Given the description of an element on the screen output the (x, y) to click on. 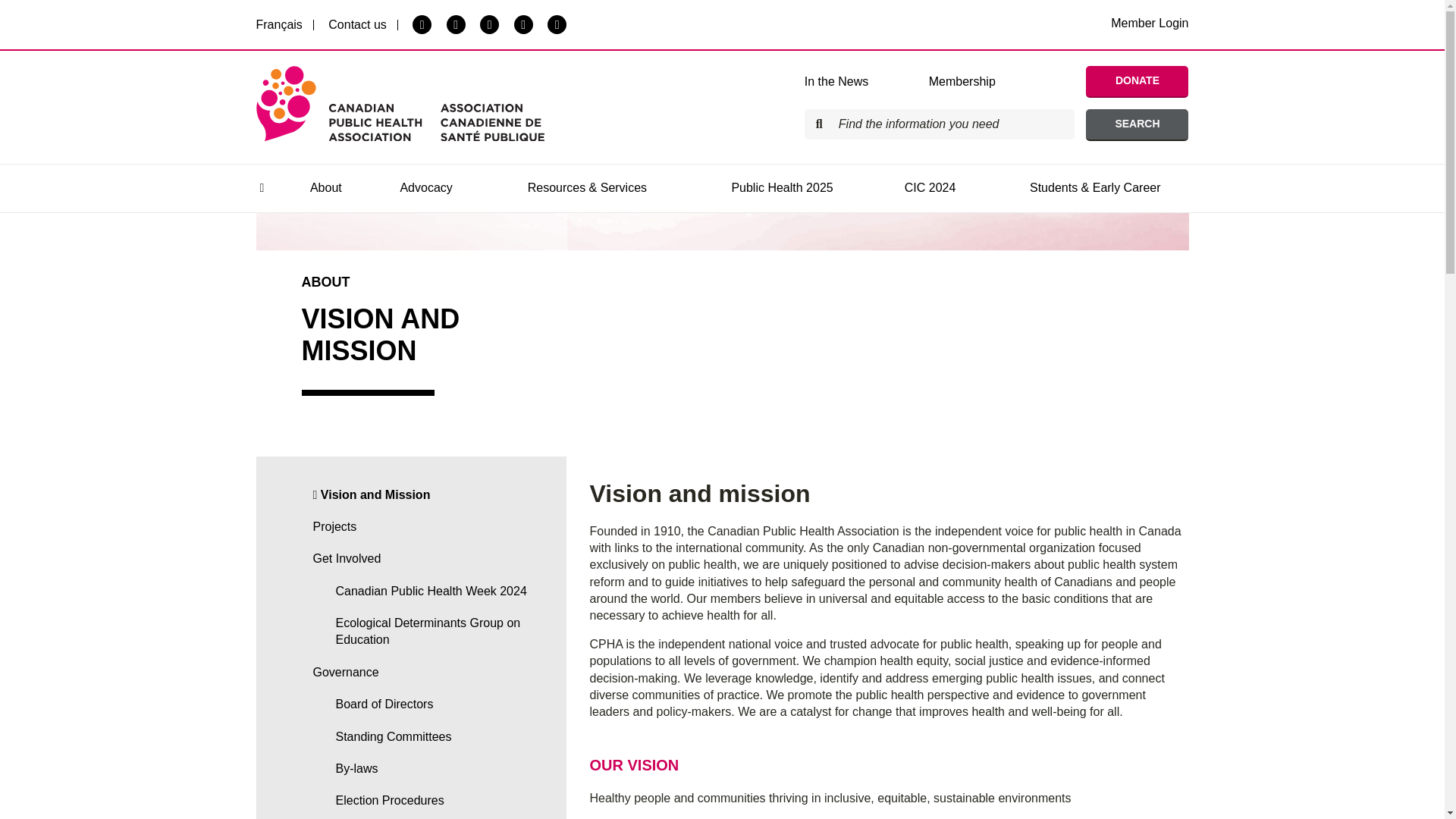
Member Login (1149, 22)
Search (1137, 124)
Membership (972, 81)
Contact us (357, 24)
In the News (848, 81)
About (325, 187)
Search (1137, 124)
DONATE (1137, 81)
Advocacy (425, 187)
